Given the description of an element on the screen output the (x, y) to click on. 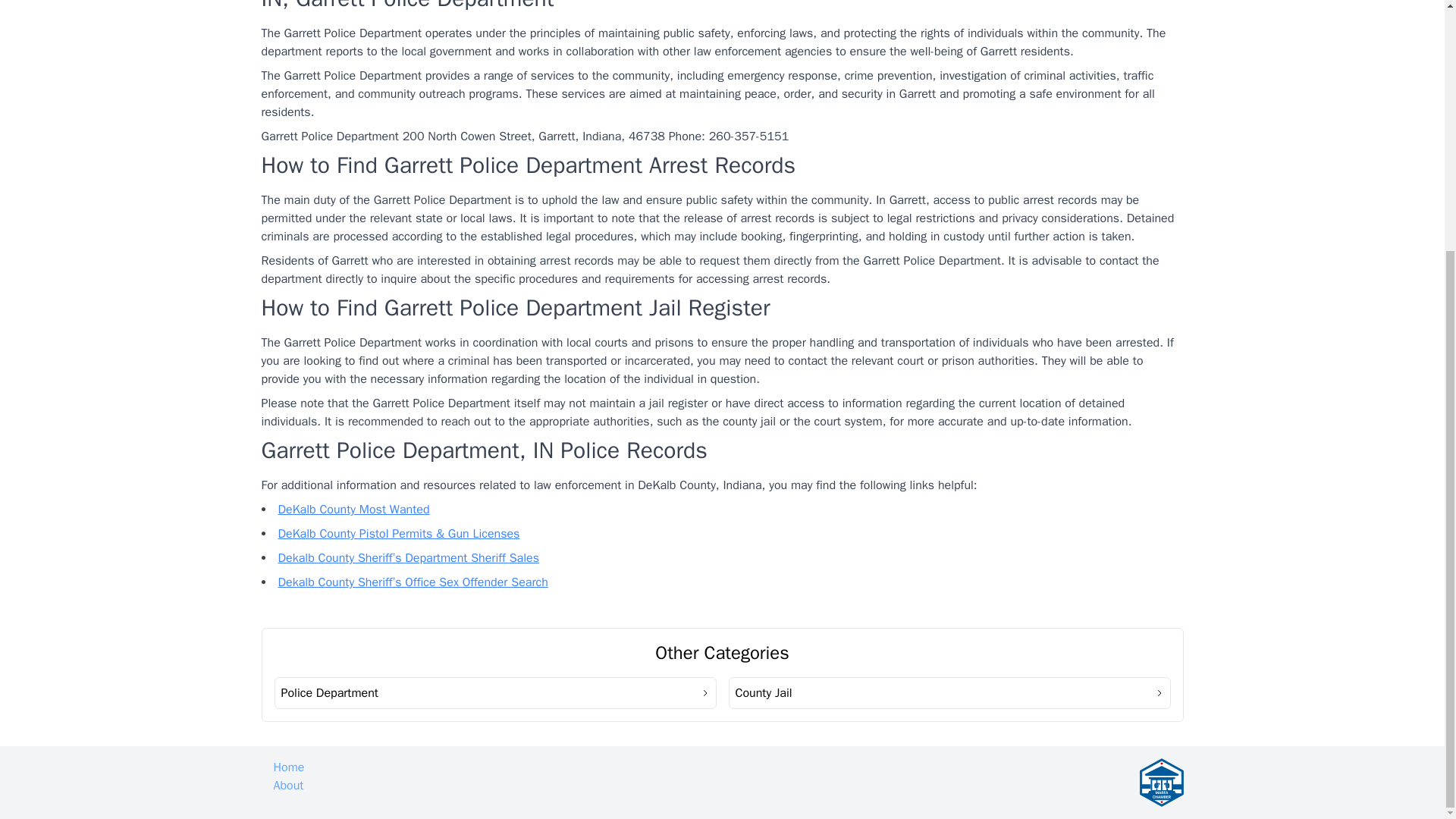
DeKalb County Most Wanted (353, 509)
County Jail (949, 693)
Home (287, 767)
Police Department (495, 693)
About (287, 785)
